Given the description of an element on the screen output the (x, y) to click on. 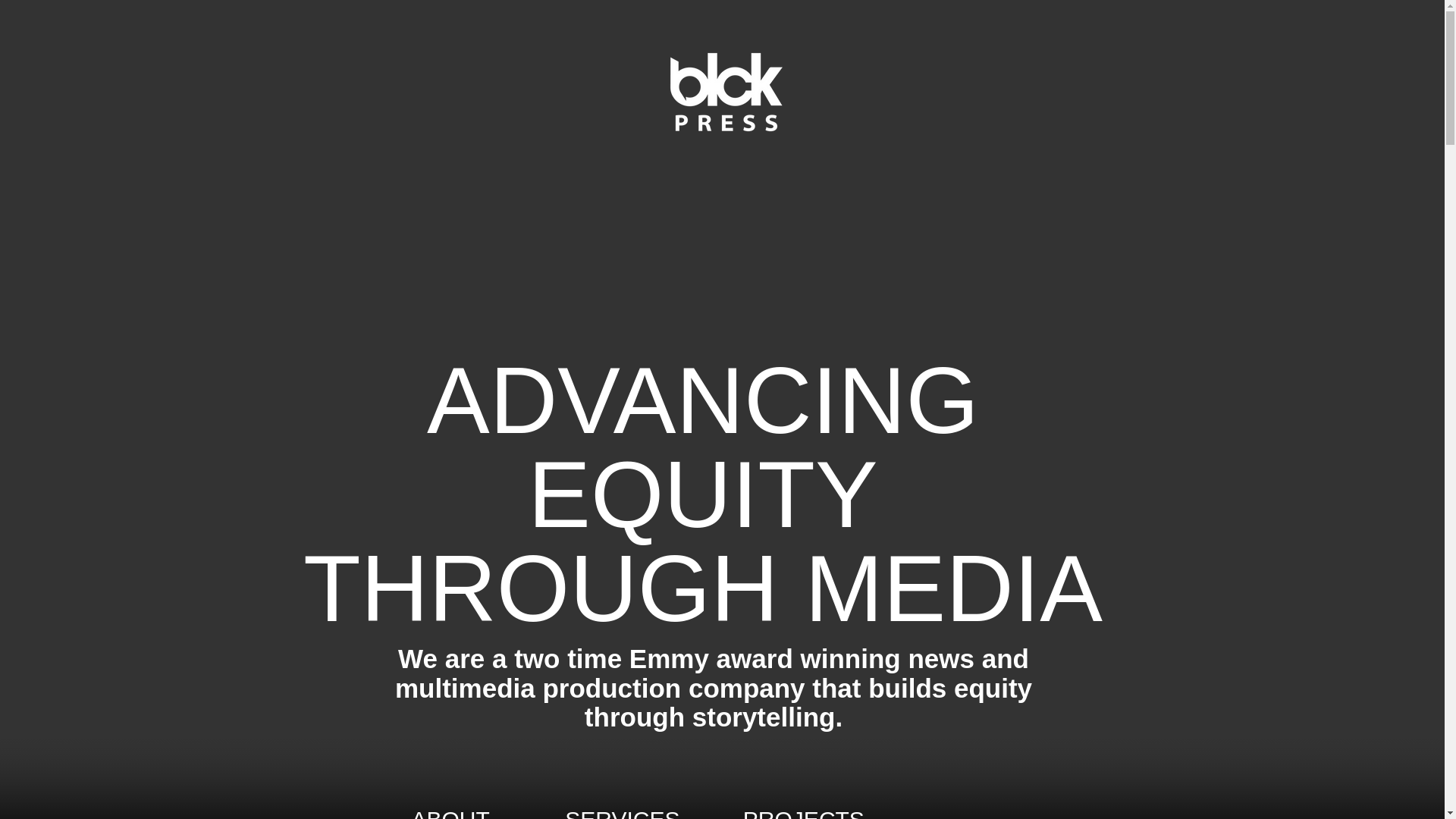
ABOUT  (452, 812)
PROJECTS (803, 812)
SERVICES           (653, 812)
